Given the description of an element on the screen output the (x, y) to click on. 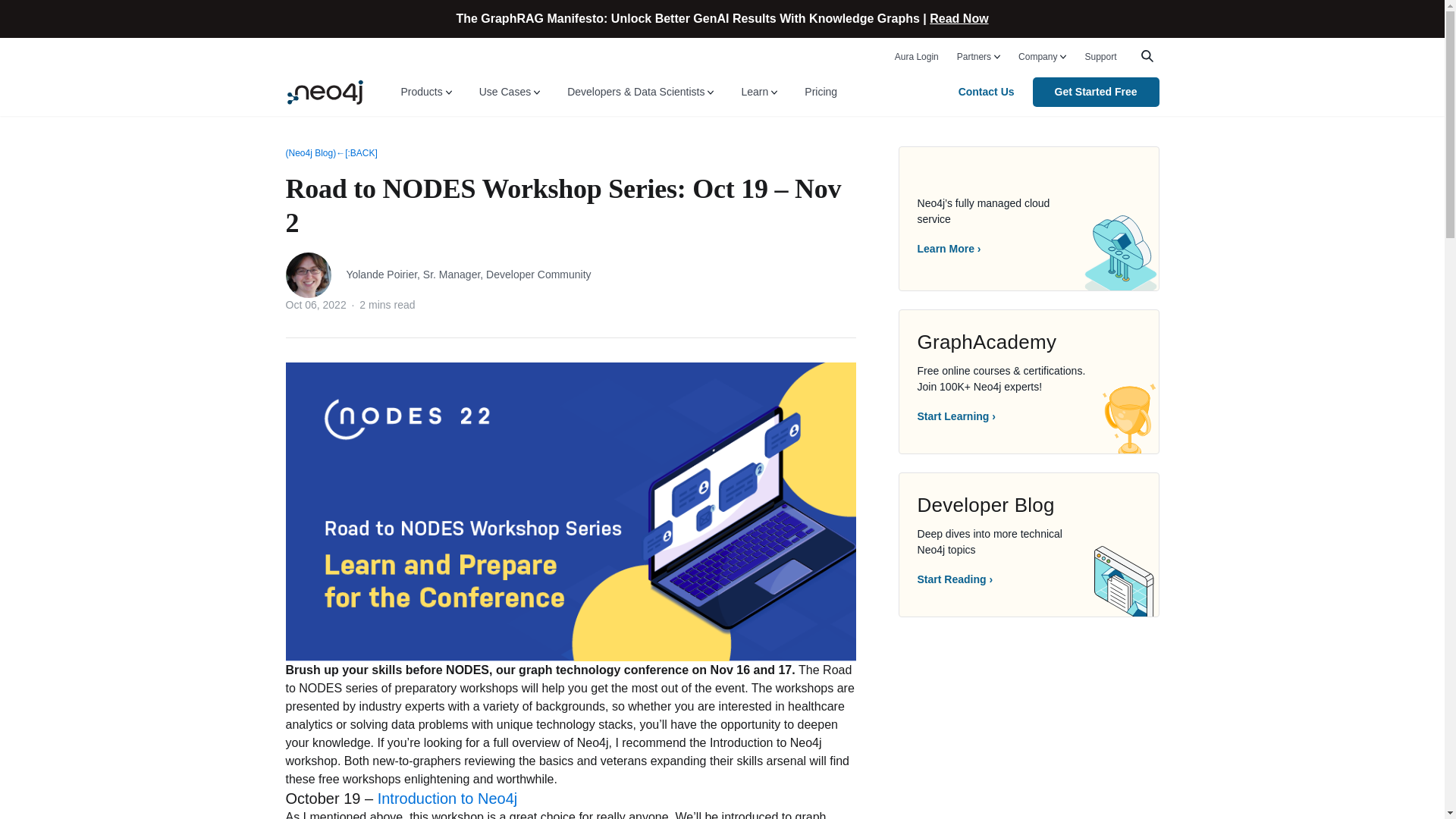
Read Now (959, 18)
